Given the description of an element on the screen output the (x, y) to click on. 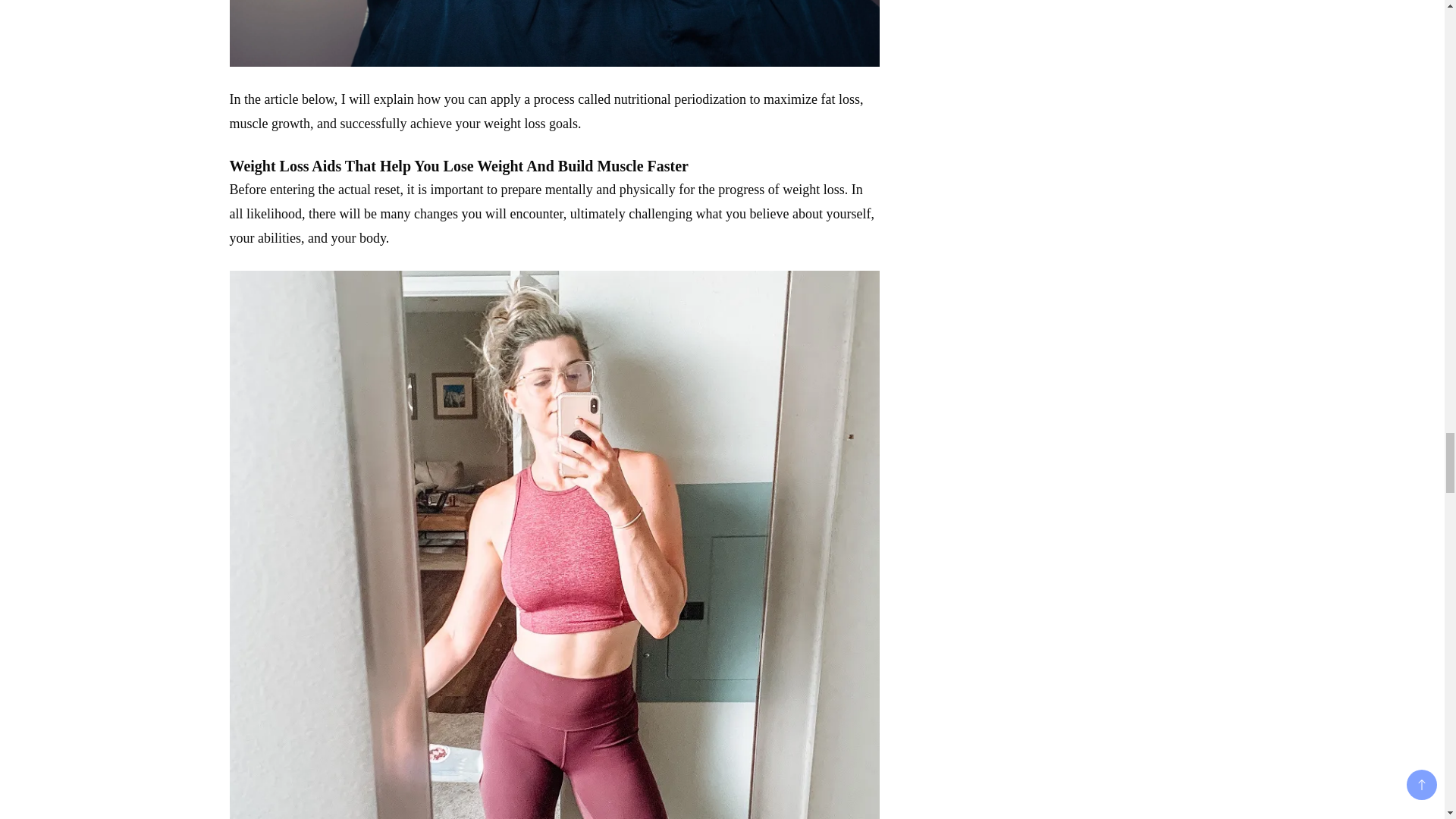
How To Lose Weight And Gain Muscle (553, 33)
